Given the description of an element on the screen output the (x, y) to click on. 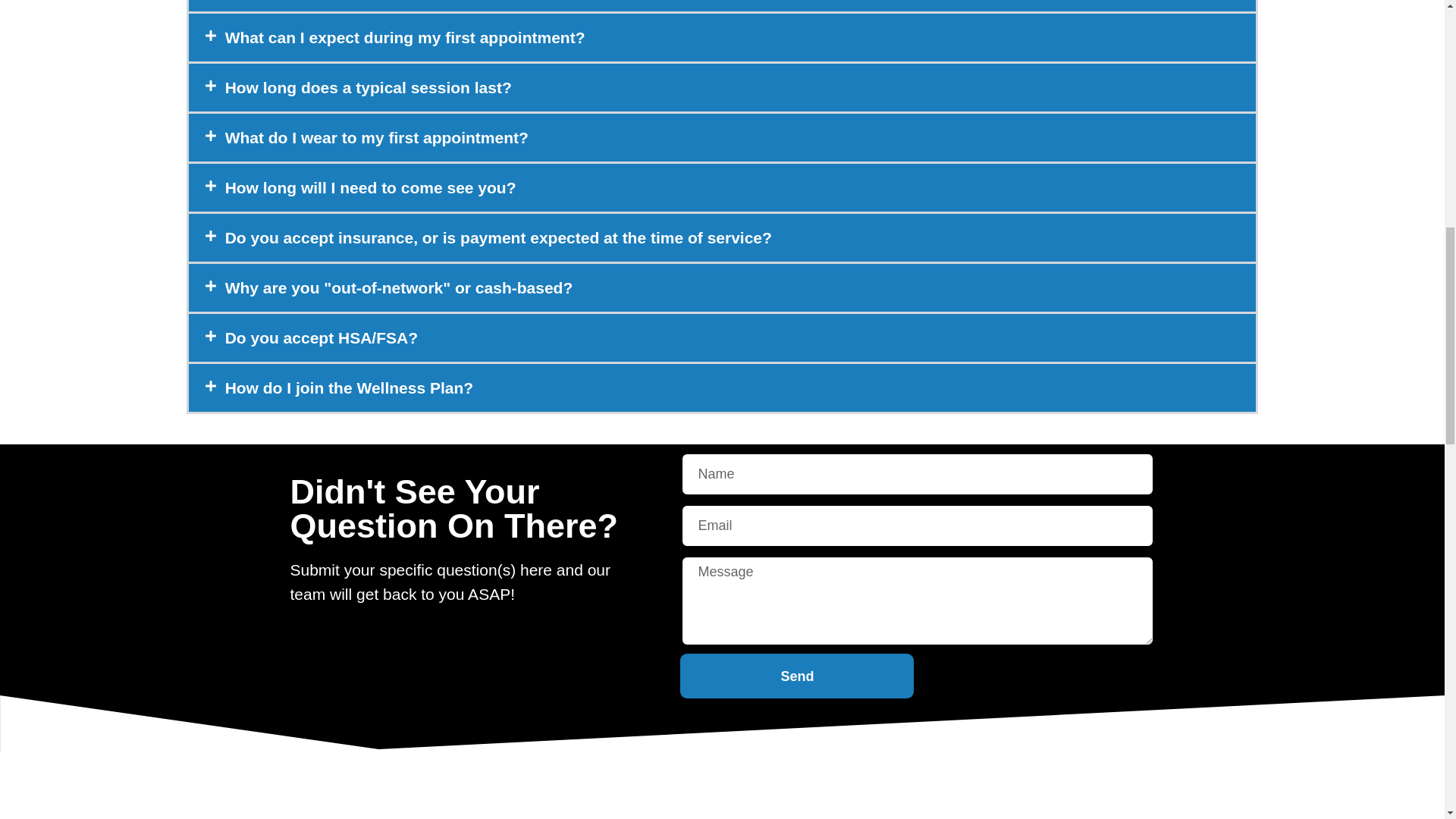
How long does a typical session last? (368, 87)
How do I join the Wellness Plan? (349, 387)
Send (796, 675)
How long will I need to come see you? (370, 187)
Why are you "out-of-network" or cash-based? (399, 287)
What can I expect during my first appointment? (405, 36)
What do I wear to my first appointment? (376, 137)
